Given the description of an element on the screen output the (x, y) to click on. 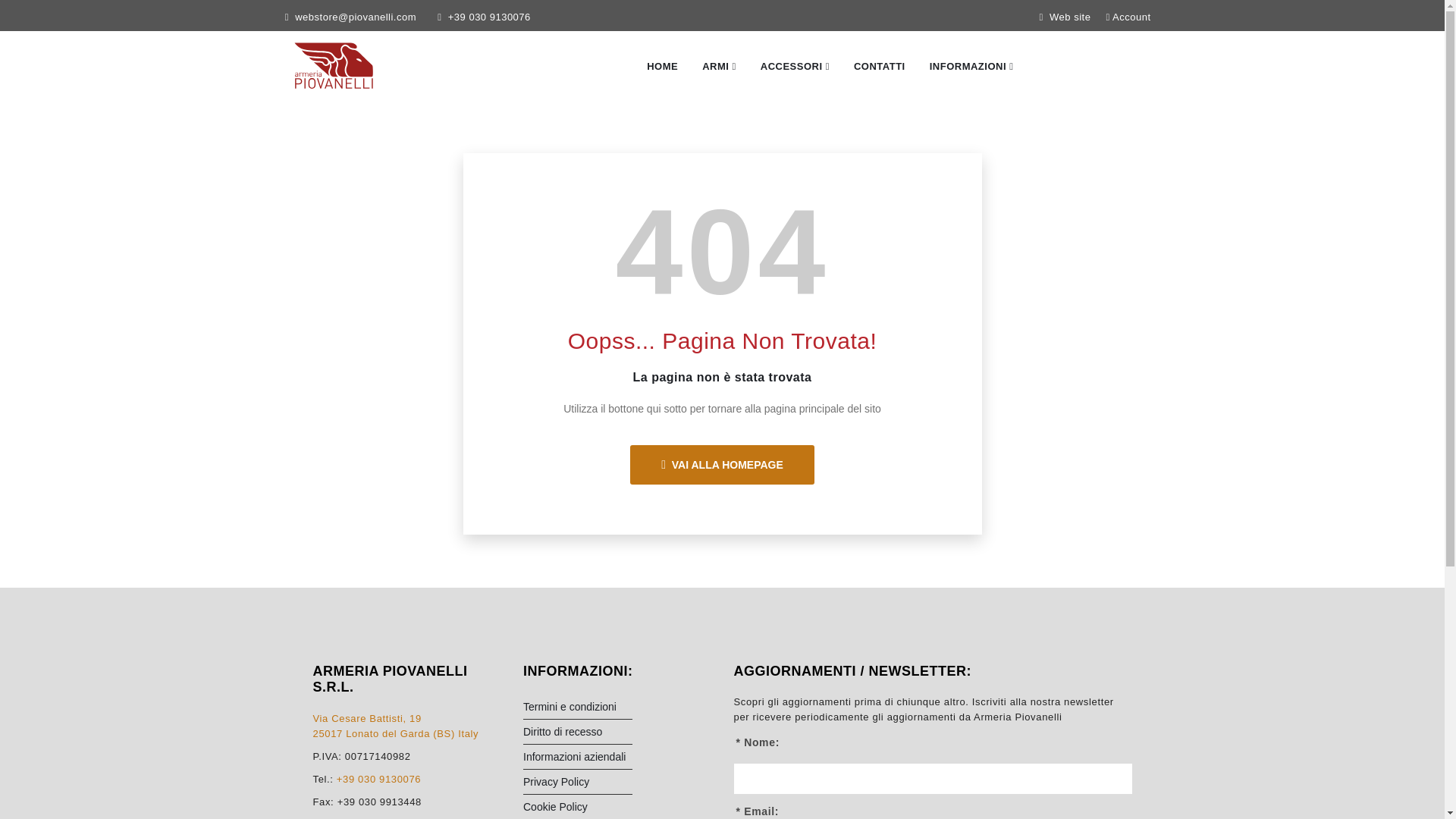
HOME (662, 66)
ARMI (719, 66)
  Web site (1064, 16)
ACCESSORI (795, 66)
Account (1127, 16)
